Given the description of an element on the screen output the (x, y) to click on. 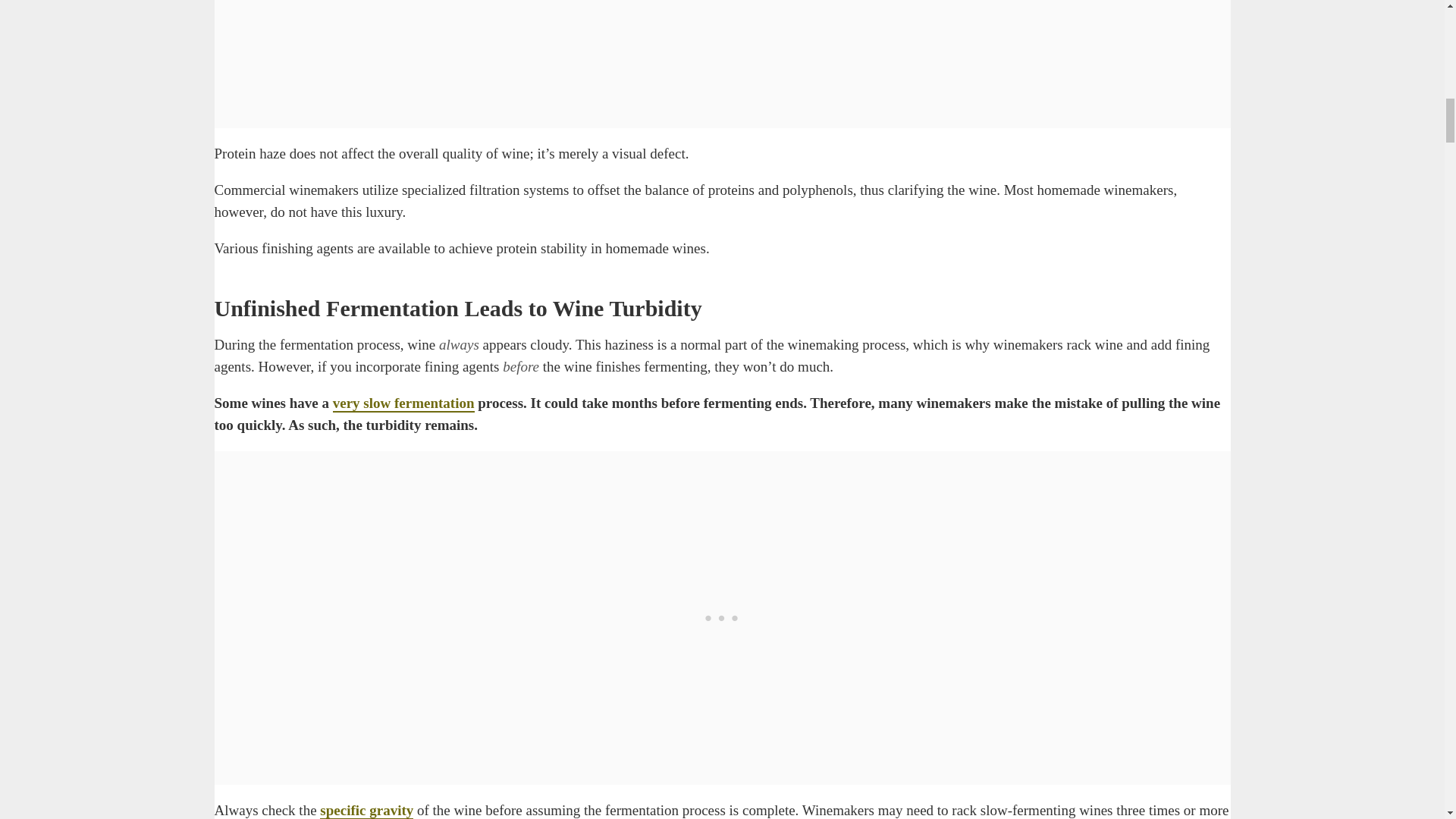
specific gravity (366, 810)
very slow fermentation (403, 403)
